Given the description of an element on the screen output the (x, y) to click on. 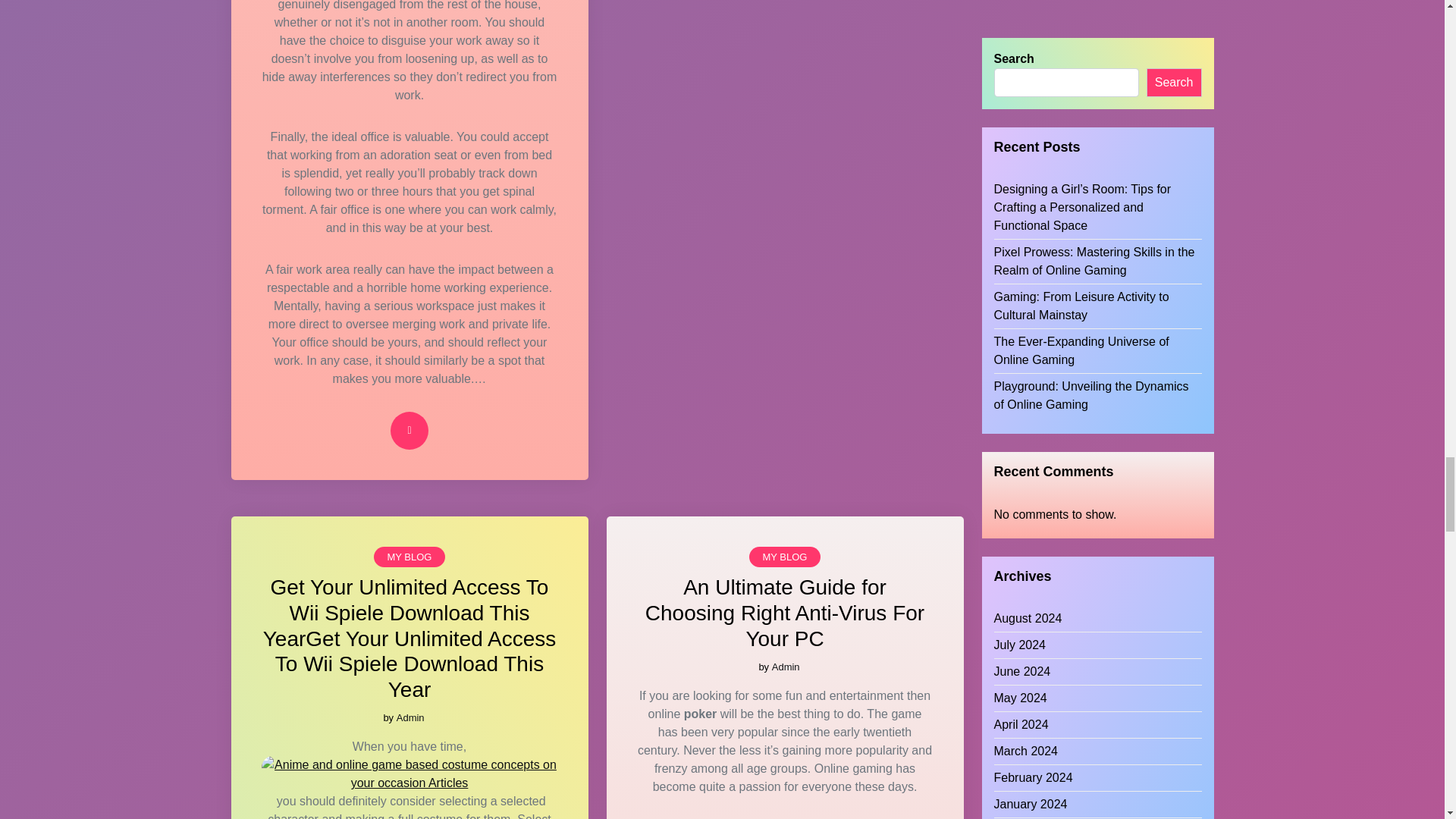
MY BLOG (409, 557)
